Given the description of an element on the screen output the (x, y) to click on. 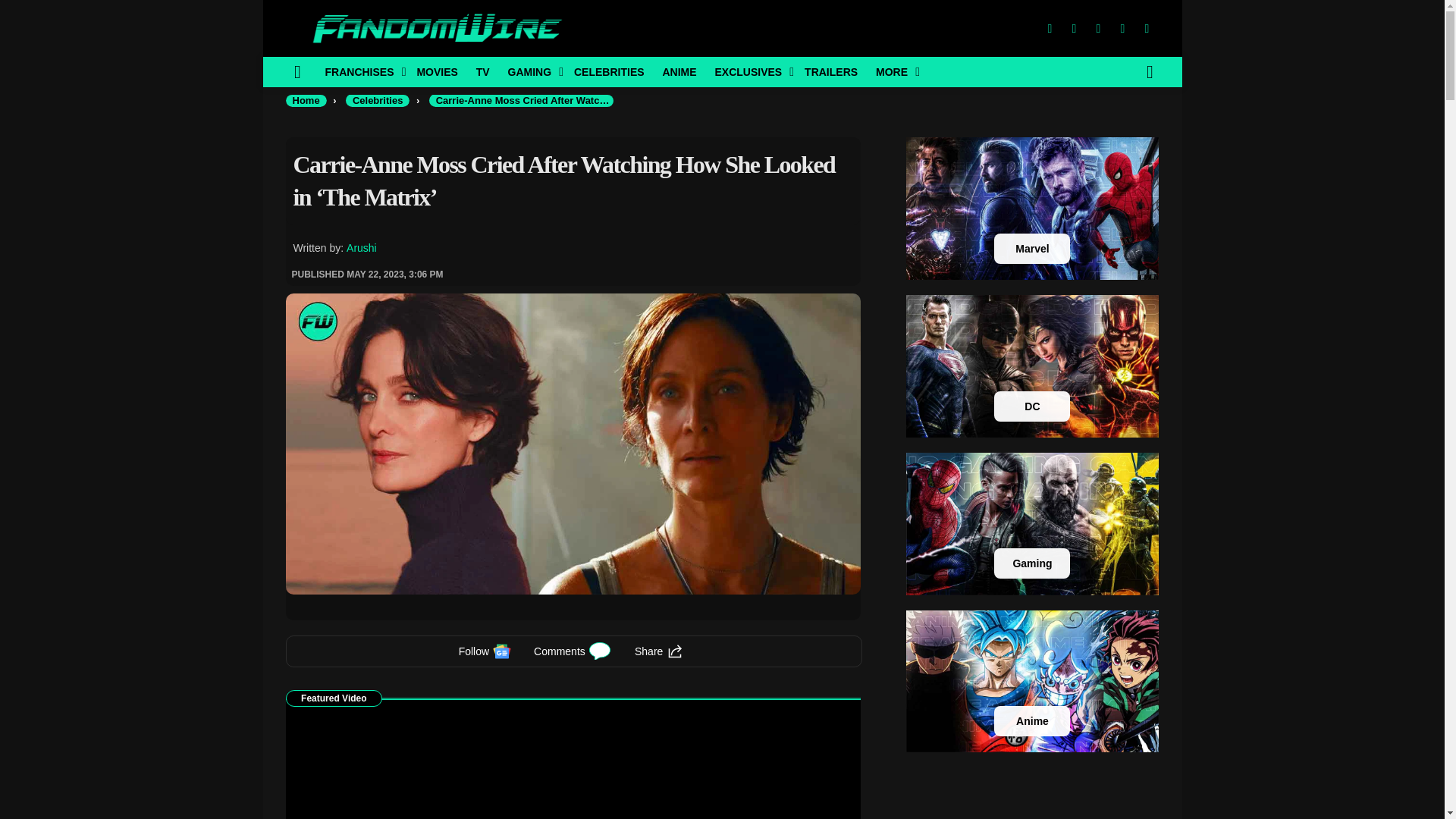
GAMING (532, 71)
CELEBRITIES (609, 71)
TRAILERS (830, 71)
EXCLUSIVES (749, 71)
FRANCHISES (361, 71)
Twitter (1073, 28)
ANIME (678, 71)
TV (482, 71)
LinkedIn (1121, 28)
Facebook (1048, 28)
